Given the description of an element on the screen output the (x, y) to click on. 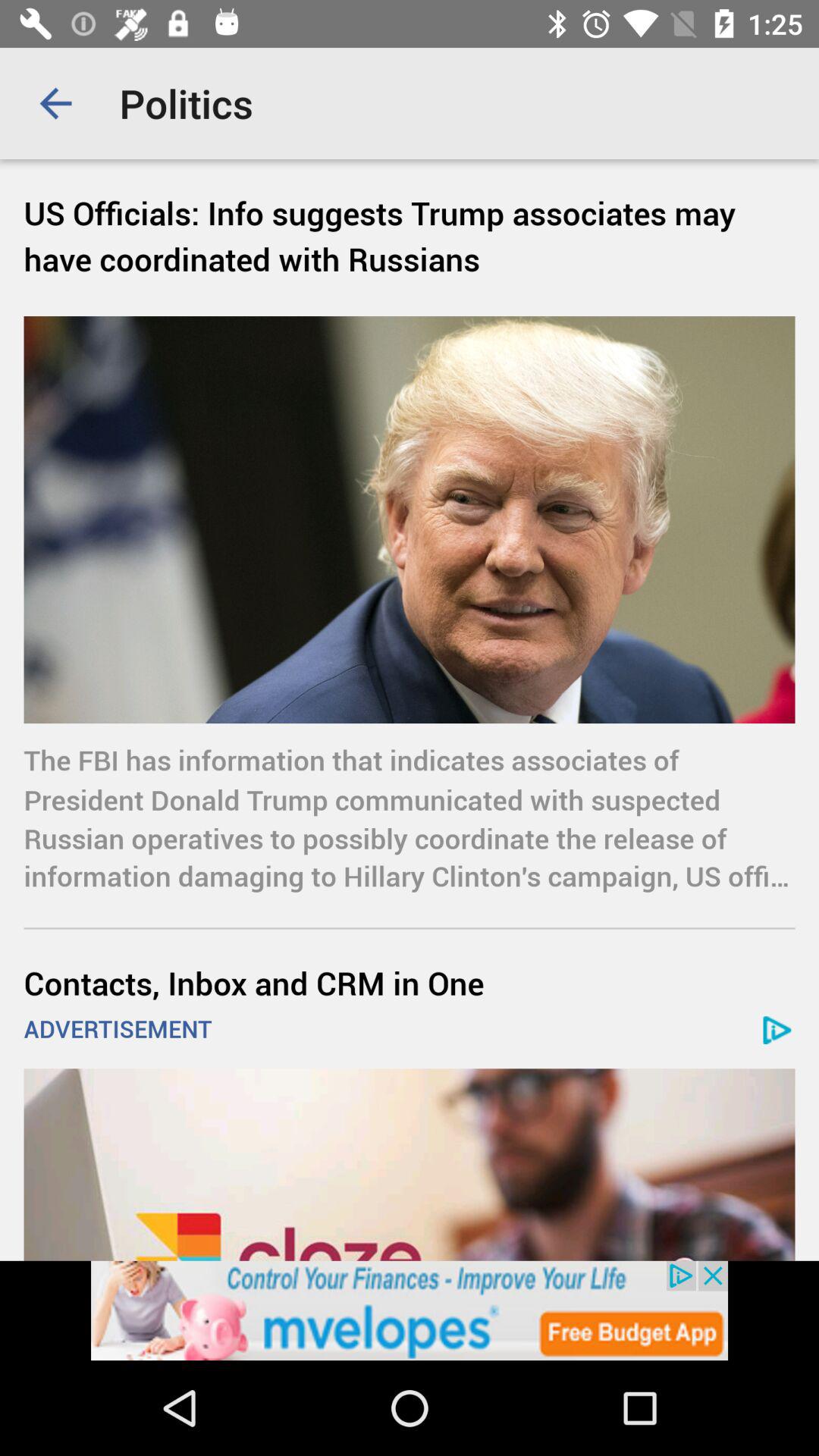
advertisement (409, 1310)
